Given the description of an element on the screen output the (x, y) to click on. 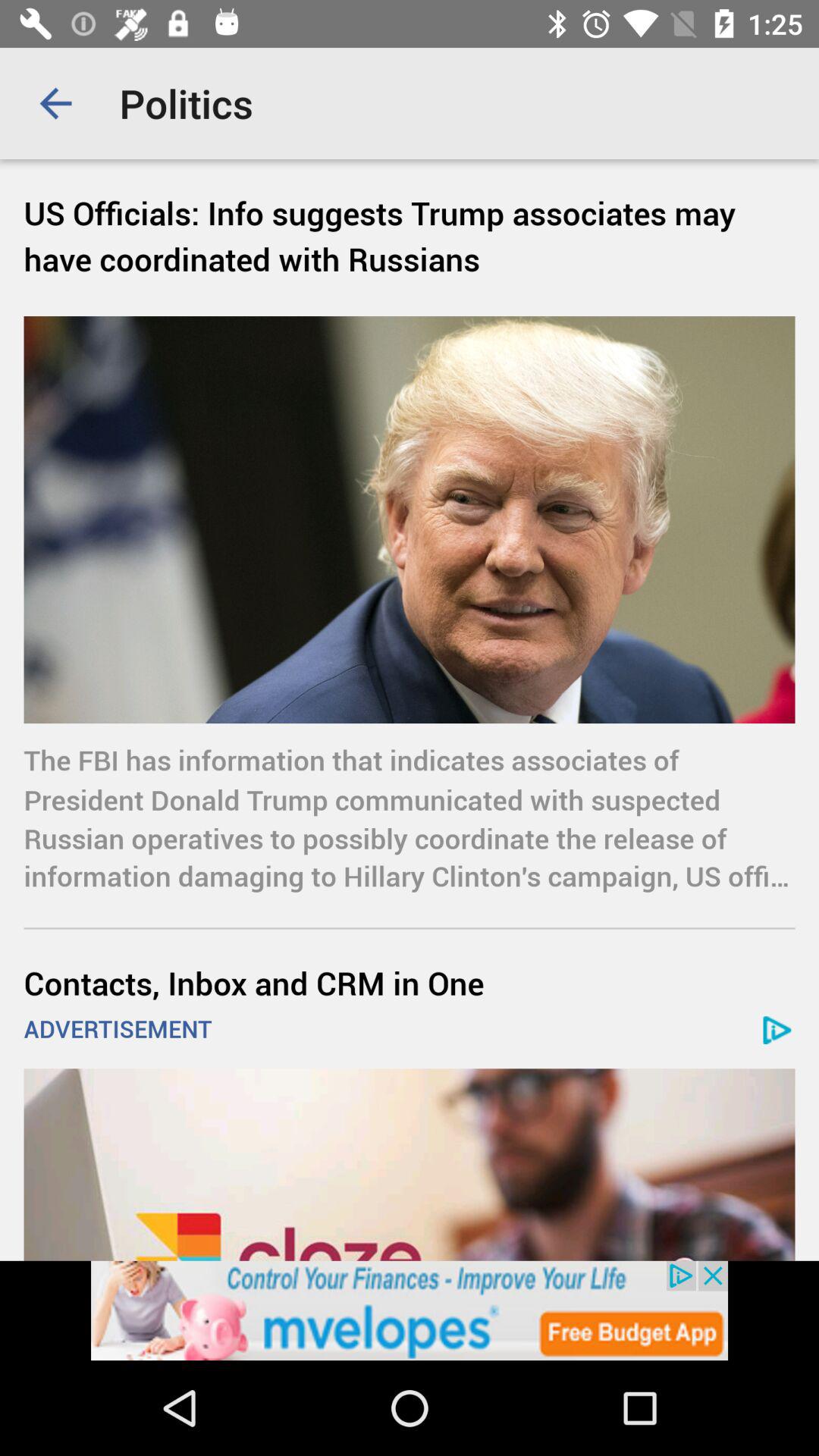
advertisement (409, 1310)
